Given the description of an element on the screen output the (x, y) to click on. 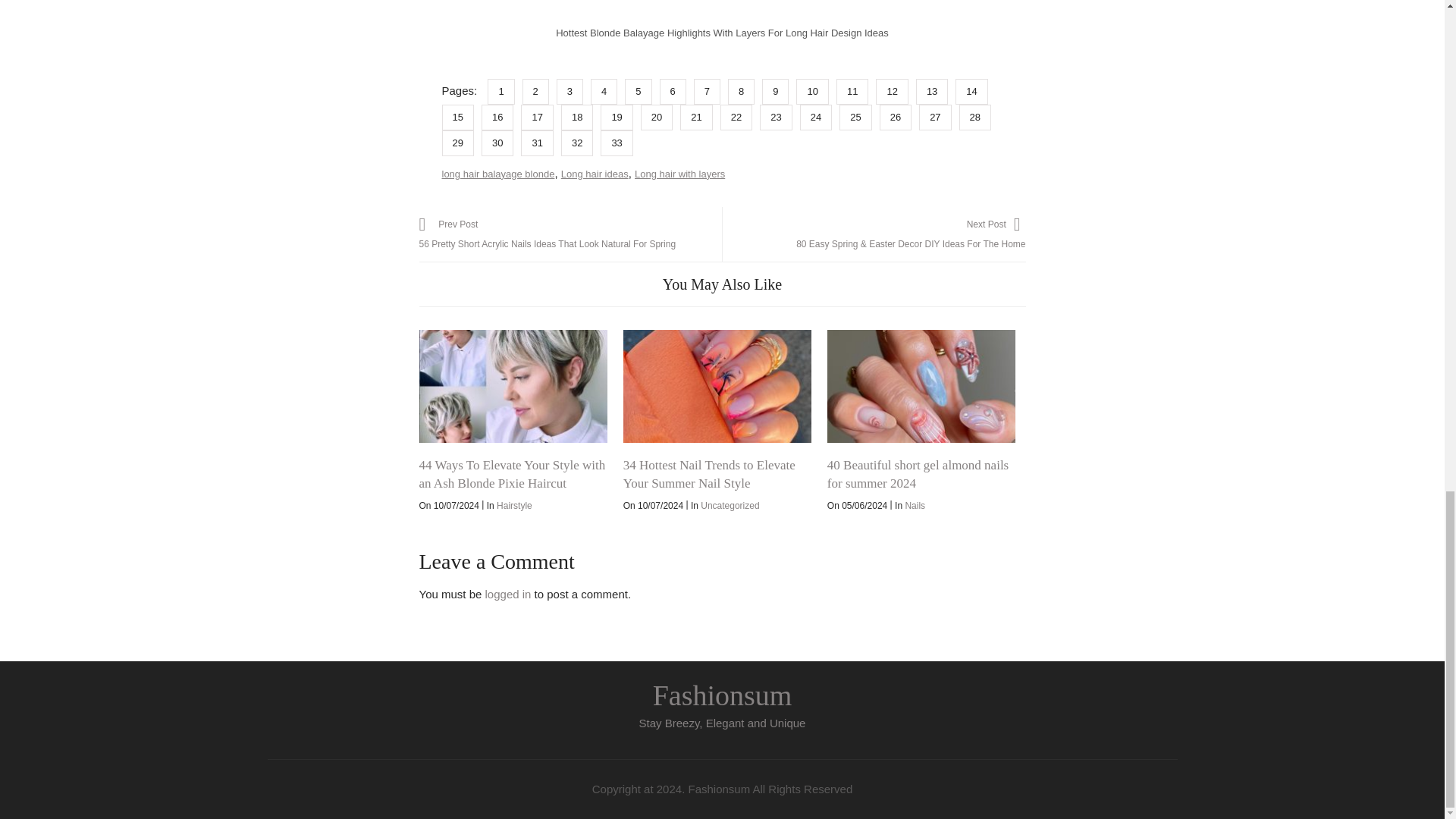
13 (935, 90)
24 (819, 115)
2 (539, 90)
7 (711, 90)
5 (641, 90)
25 (859, 115)
8 (744, 90)
17 (540, 115)
10 (815, 90)
21 (699, 115)
23 (779, 115)
16 (501, 115)
4 (607, 90)
14 (974, 90)
22 (740, 115)
